Given the description of an element on the screen output the (x, y) to click on. 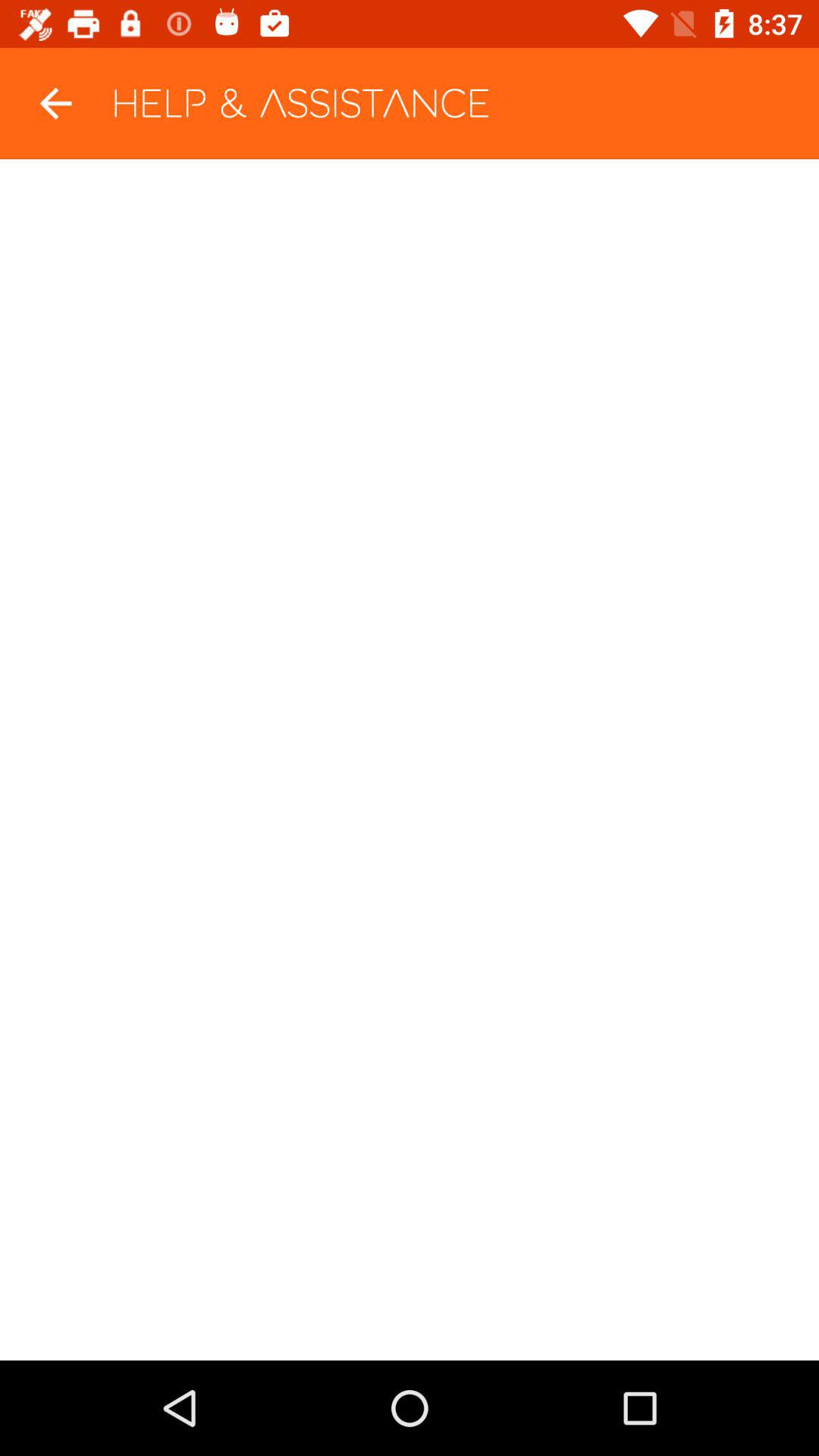
turn off the icon next to help & assistance app (55, 103)
